Given the description of an element on the screen output the (x, y) to click on. 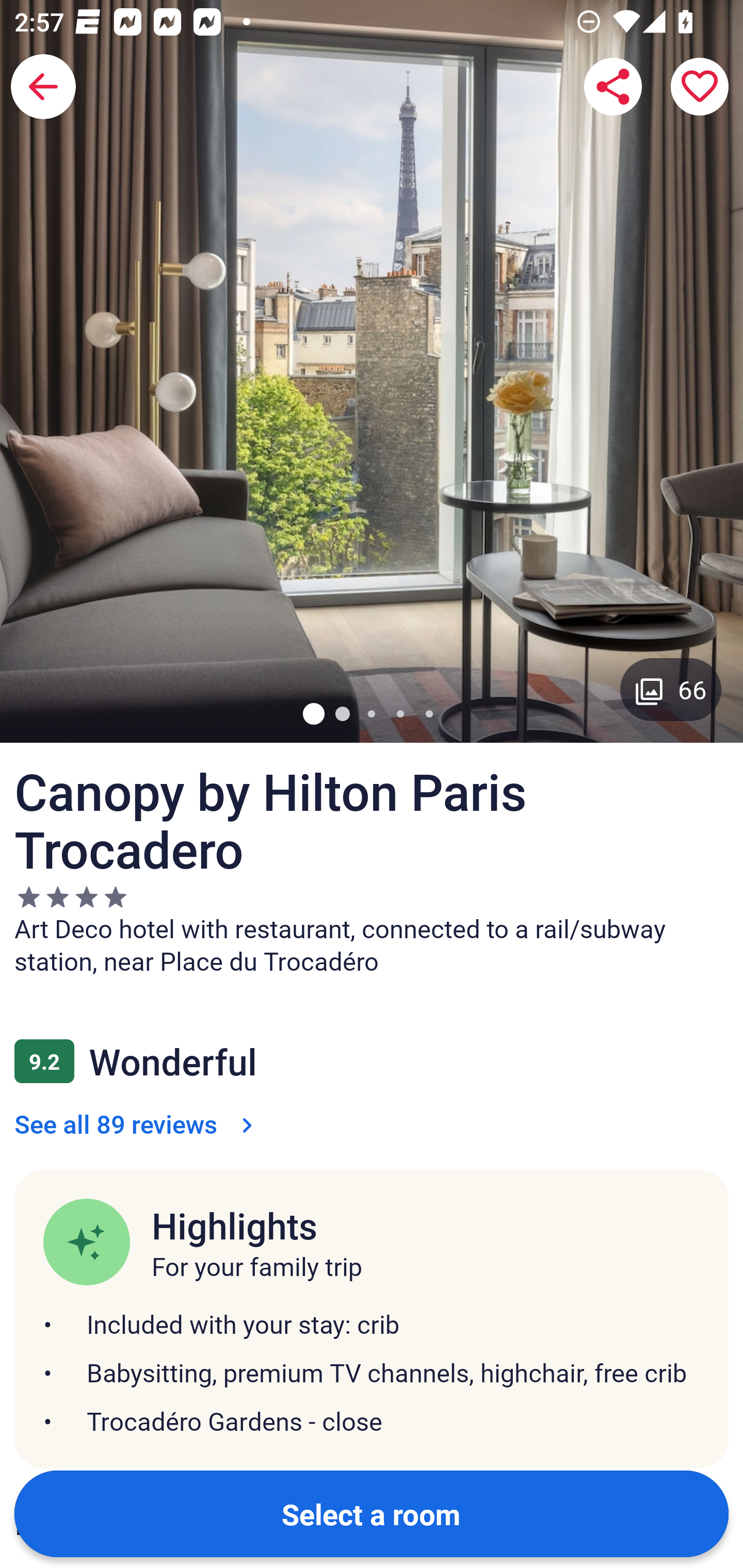
Back (43, 86)
Save property to a trip (699, 86)
Share Canopy by Hilton Paris Trocadero (612, 87)
Gallery button with 66 images (670, 689)
See all 89 reviews See all 89 reviews Link (137, 1123)
Select a room Button Select a room (371, 1513)
